Given the description of an element on the screen output the (x, y) to click on. 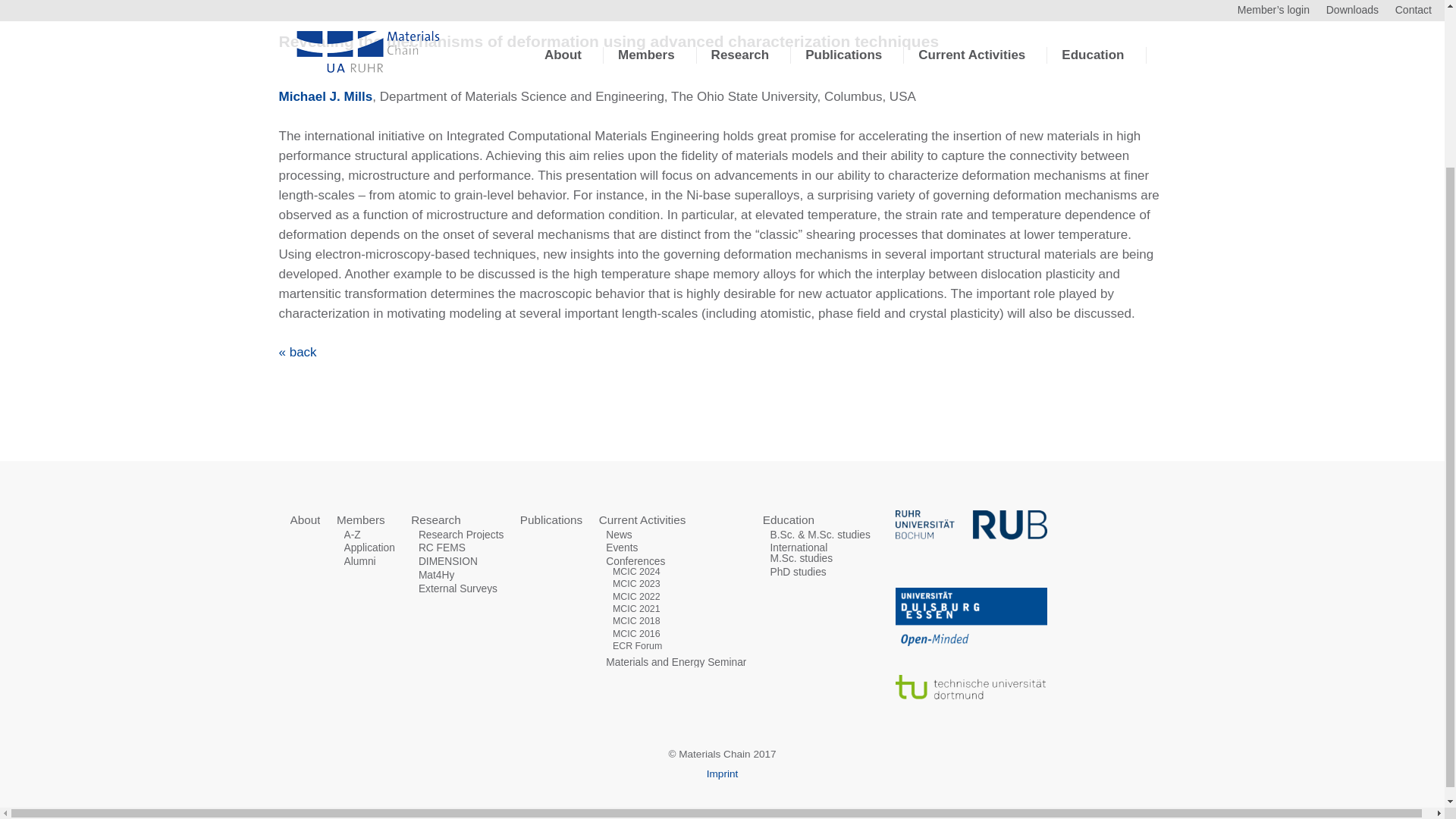
A-Z (352, 533)
Members (360, 519)
Application (368, 547)
About (304, 519)
